Given the description of an element on the screen output the (x, y) to click on. 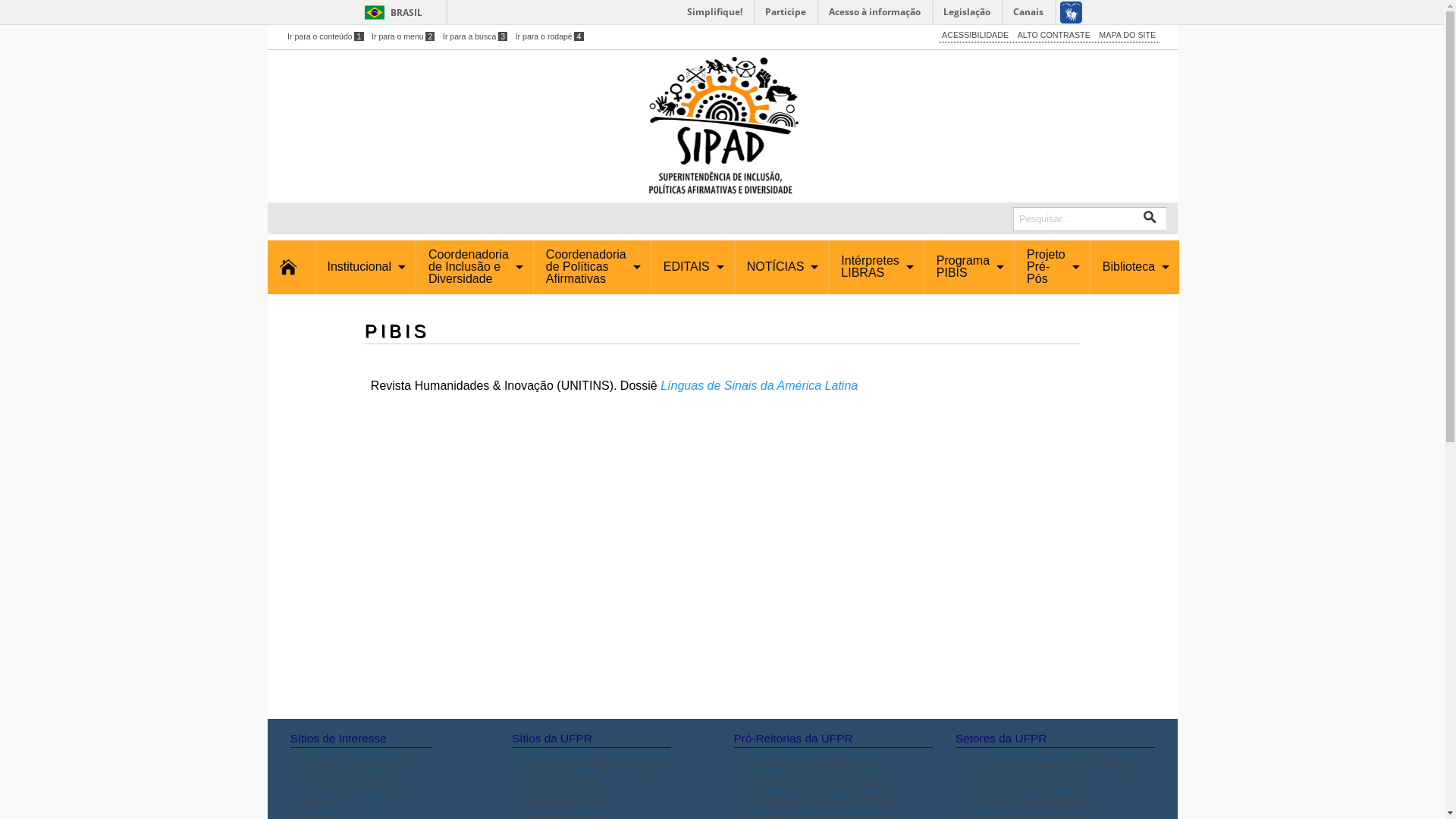
Programa PIBIS Element type: text (965, 266)
Institucional Element type: text (362, 266)
EDITAIS Element type: text (689, 266)
ACESSIBILIDADE Element type: text (975, 34)
Capes Element type: text (364, 800)
BRASIL Element type: text (389, 12)
ALTO CONTRASTE Element type: text (1053, 34)
Ir para a busca3 Element type: text (475, 36)
MAPA DO SITE Element type: text (1126, 34)
Biblioteca Element type: text (1131, 266)
Ir para o menu2 Element type: text (403, 36)
